Given the description of an element on the screen output the (x, y) to click on. 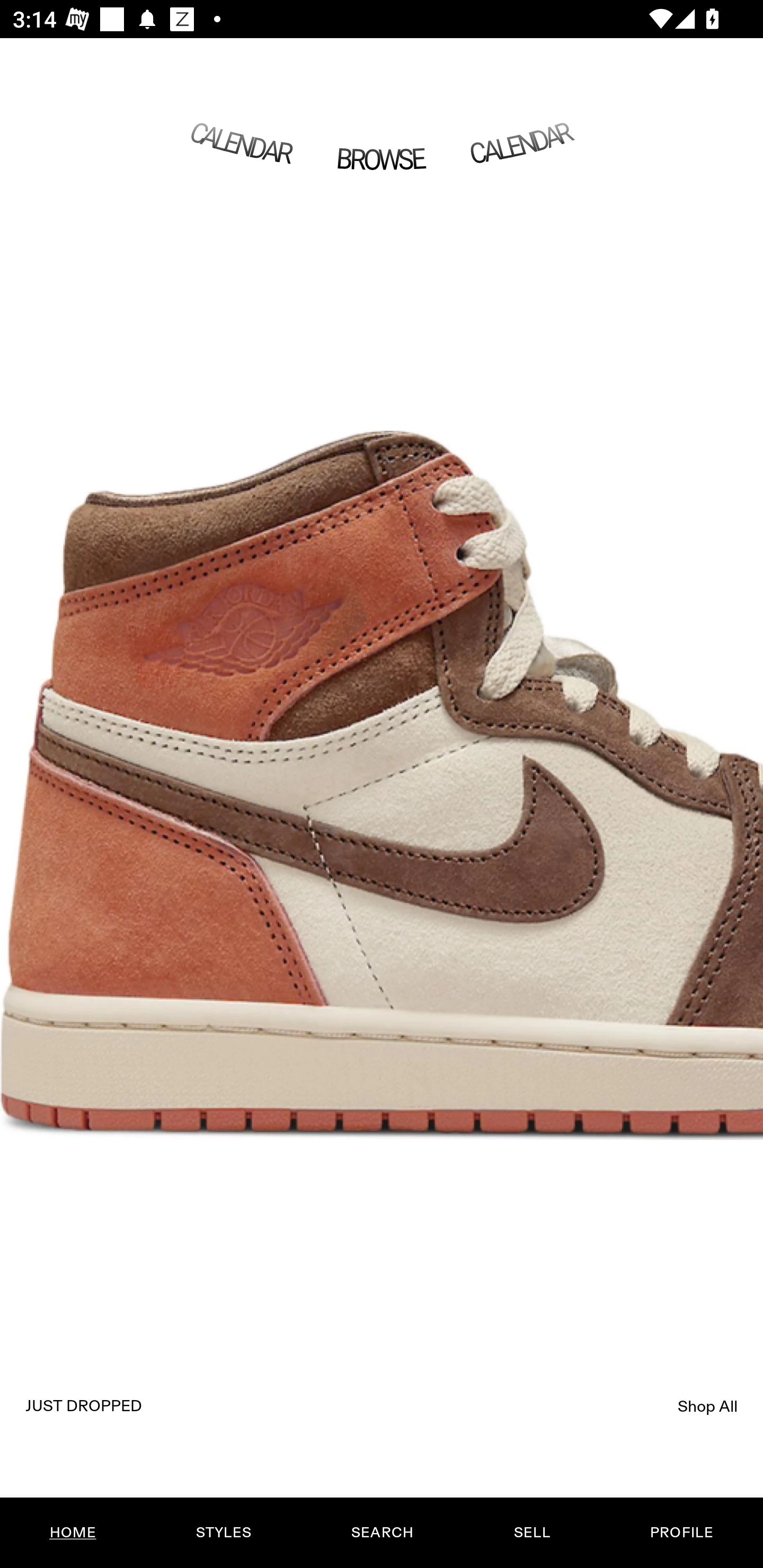
Shop All (707, 1406)
HOME (72, 1532)
STYLES (222, 1532)
SEARCH (381, 1532)
SELL (531, 1532)
PROFILE (681, 1532)
